Given the description of an element on the screen output the (x, y) to click on. 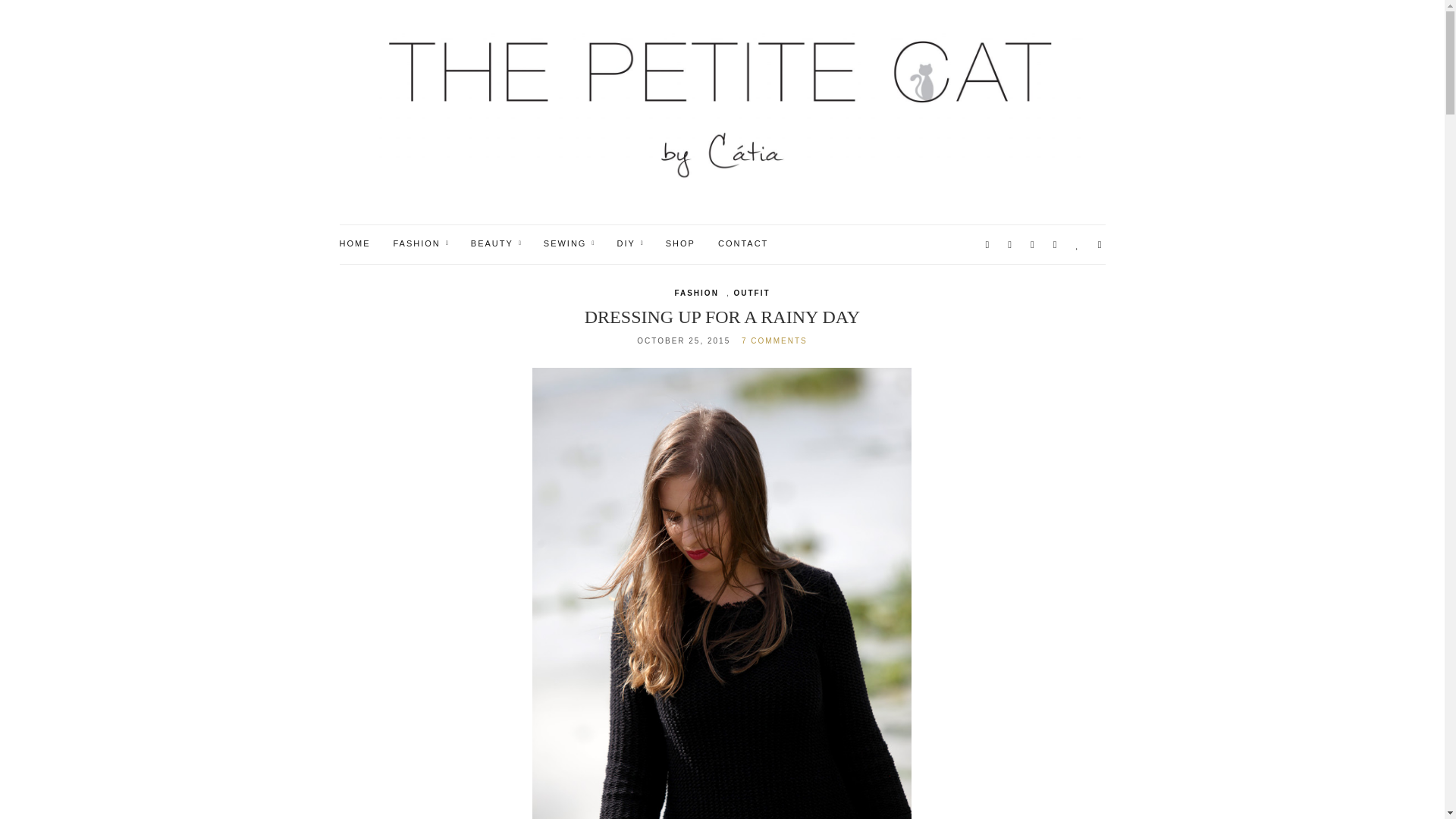
Home (355, 243)
FASHION (419, 243)
BEAUTY (495, 243)
HOME (355, 243)
